Given the description of an element on the screen output the (x, y) to click on. 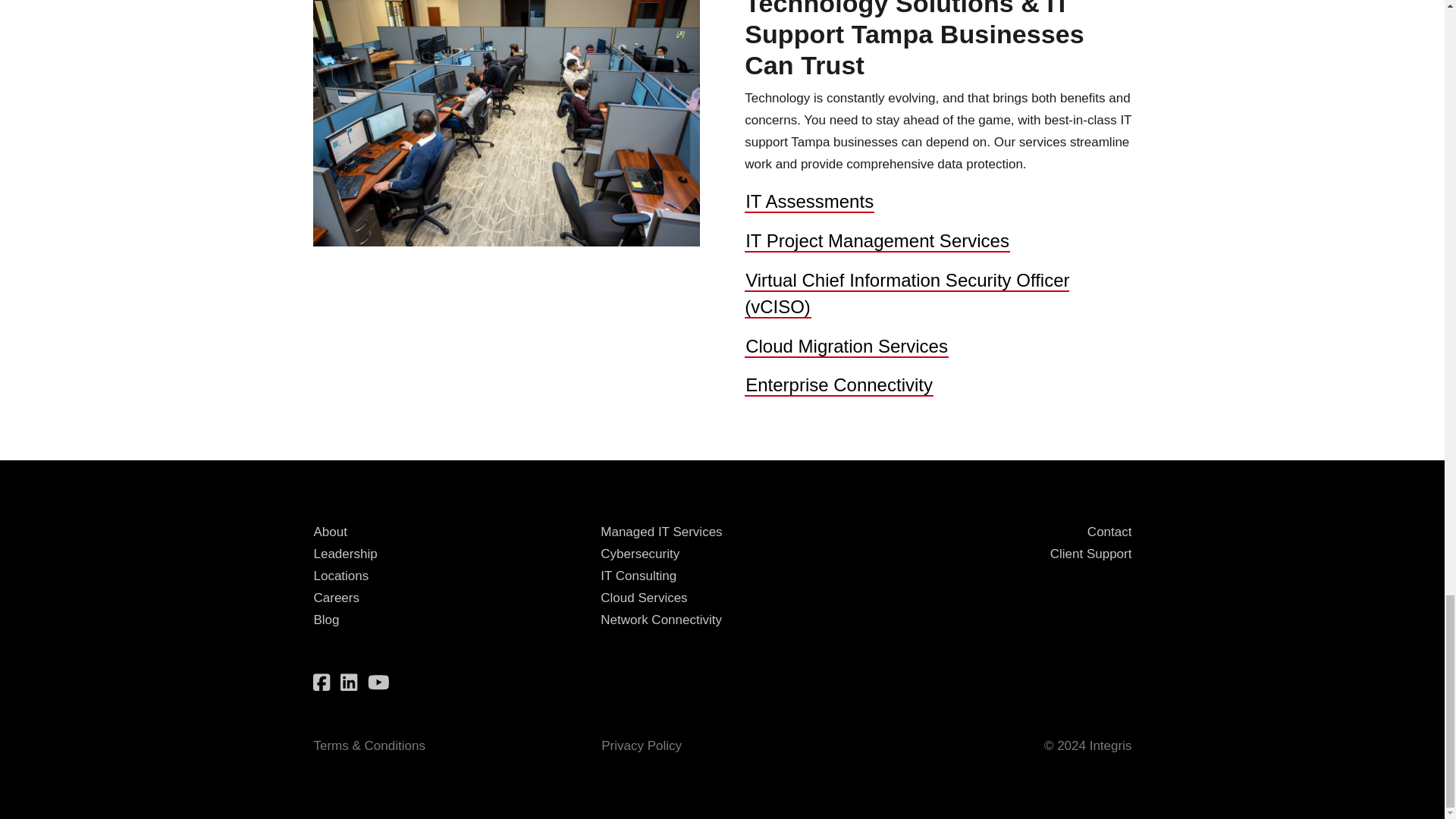
austin-office-cubicles (505, 123)
